Given the description of an element on the screen output the (x, y) to click on. 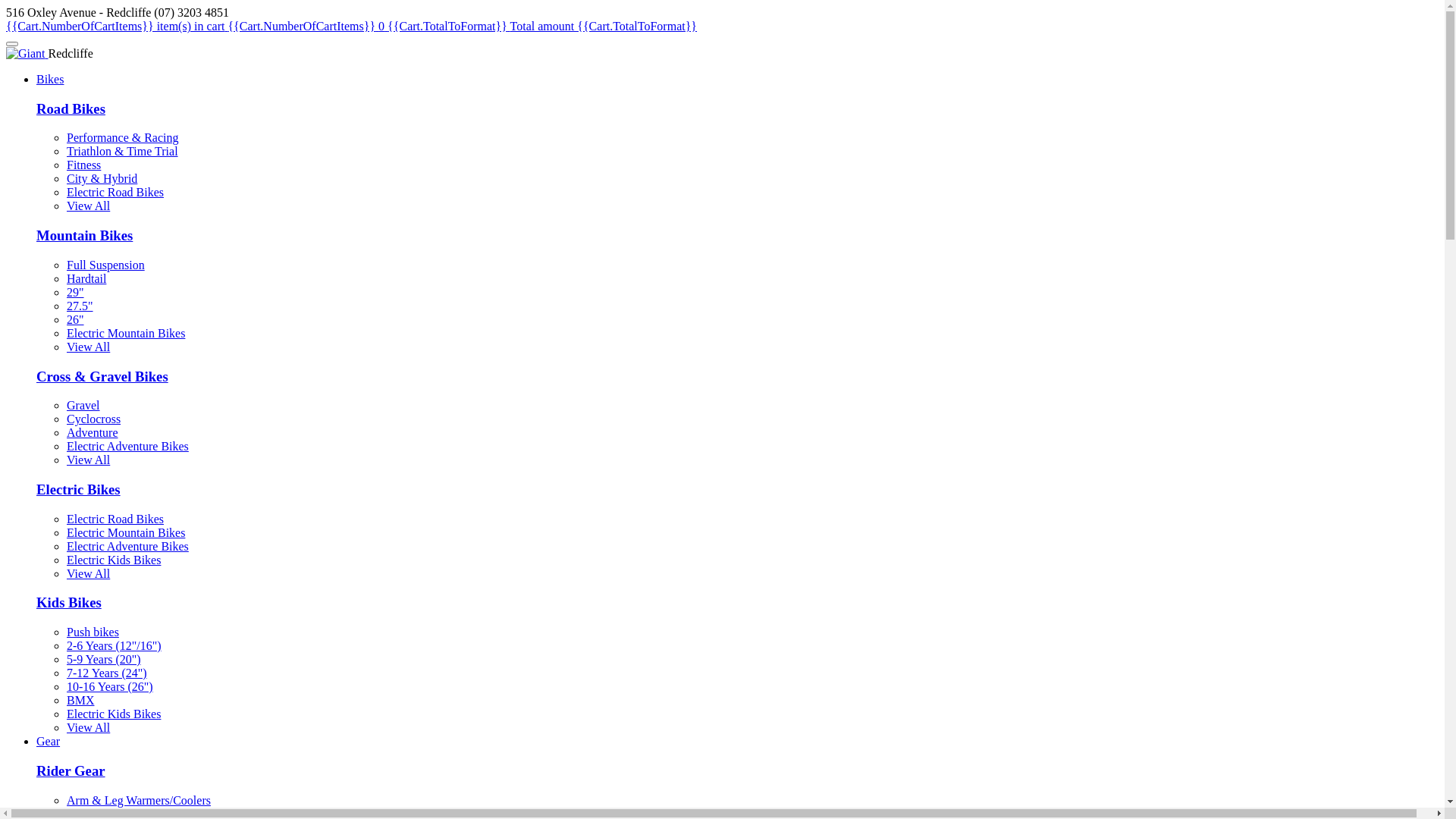
Mountain Bikes Element type: text (84, 235)
10-16 Years (26") Element type: text (109, 686)
Electric Adventure Bikes Element type: text (127, 445)
Electric Road Bikes Element type: text (114, 518)
Push bikes Element type: text (92, 631)
Electric Kids Bikes Element type: text (113, 713)
View All Element type: text (87, 205)
Electric Adventure Bikes Element type: text (127, 545)
Full Suspension Element type: text (105, 264)
View All Element type: text (87, 573)
Electric Kids Bikes Element type: text (113, 559)
Electric Mountain Bikes Element type: text (125, 332)
Hardtail Element type: text (86, 278)
26" Element type: text (75, 319)
27.5" Element type: text (79, 305)
Cross & Gravel Bikes Element type: text (102, 376)
View All Element type: text (87, 727)
Cyclocross Element type: text (93, 418)
Triathlon & Time Trial Element type: text (122, 150)
Electric Mountain Bikes Element type: text (125, 532)
Rider Gear Element type: text (70, 770)
Adventure Element type: text (92, 432)
BMX Element type: text (80, 699)
City & Hybrid Element type: text (101, 178)
Gravel Element type: text (83, 404)
View All Element type: text (87, 346)
Fitness Element type: text (83, 164)
Electric Bikes Element type: text (78, 489)
Road Bikes Element type: text (70, 108)
Performance & Racing Element type: text (122, 137)
View All Element type: text (87, 459)
Electric Road Bikes Element type: text (114, 191)
Bikes Element type: text (49, 78)
5-9 Years (20") Element type: text (103, 658)
7-12 Years (24") Element type: text (106, 672)
Arm & Leg Warmers/Coolers Element type: text (138, 799)
29" Element type: text (75, 291)
2-6 Years (12"/16") Element type: text (113, 645)
Kids Bikes Element type: text (68, 602)
Gear Element type: text (47, 740)
